Given the description of an element on the screen output the (x, y) to click on. 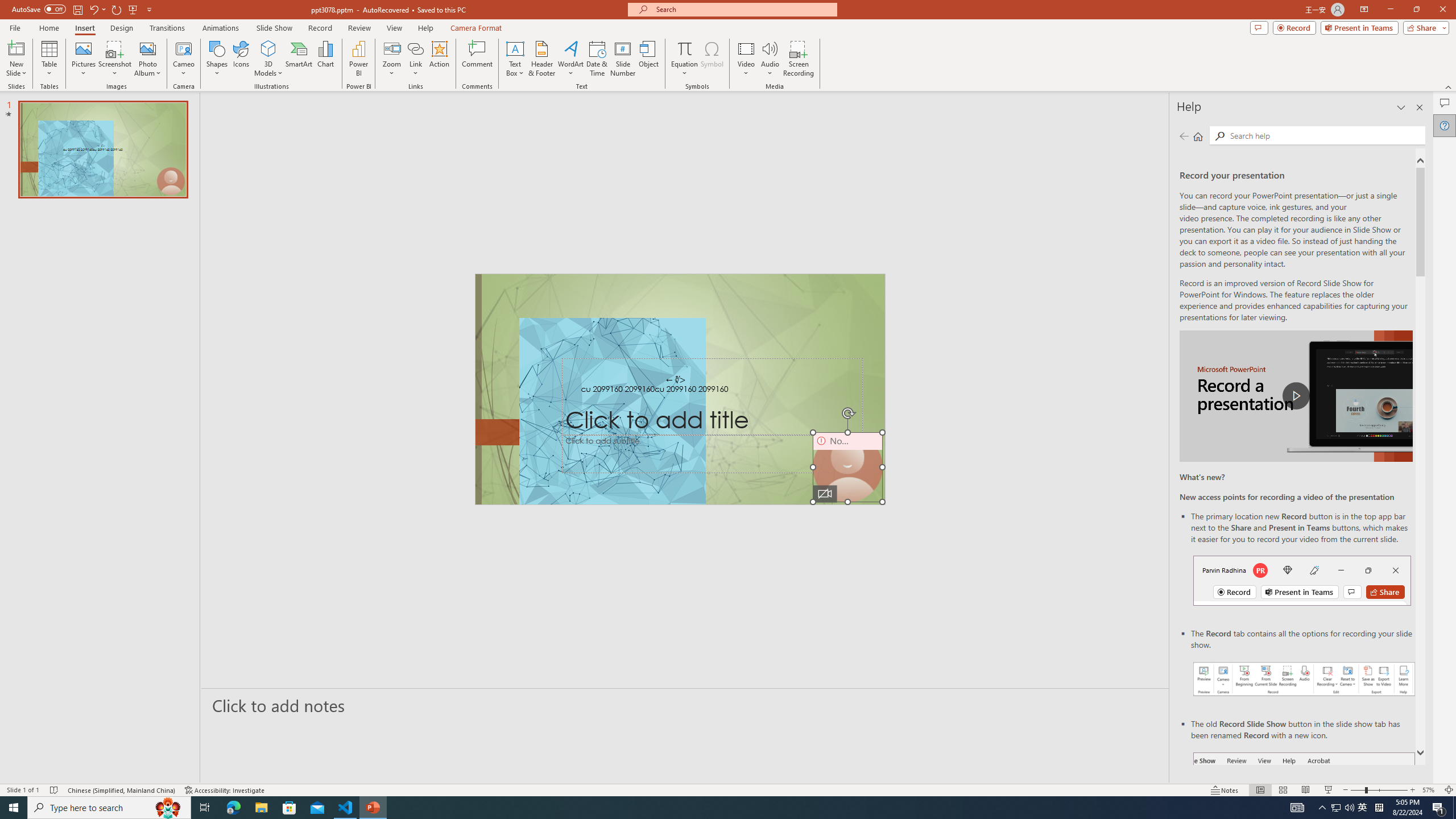
Record button in top bar (1301, 580)
WordArt (570, 58)
Slide Notes (685, 705)
SmartArt... (298, 58)
Cameo (183, 58)
Zoom 57% (1430, 790)
Link (415, 48)
